Given the description of an element on the screen output the (x, y) to click on. 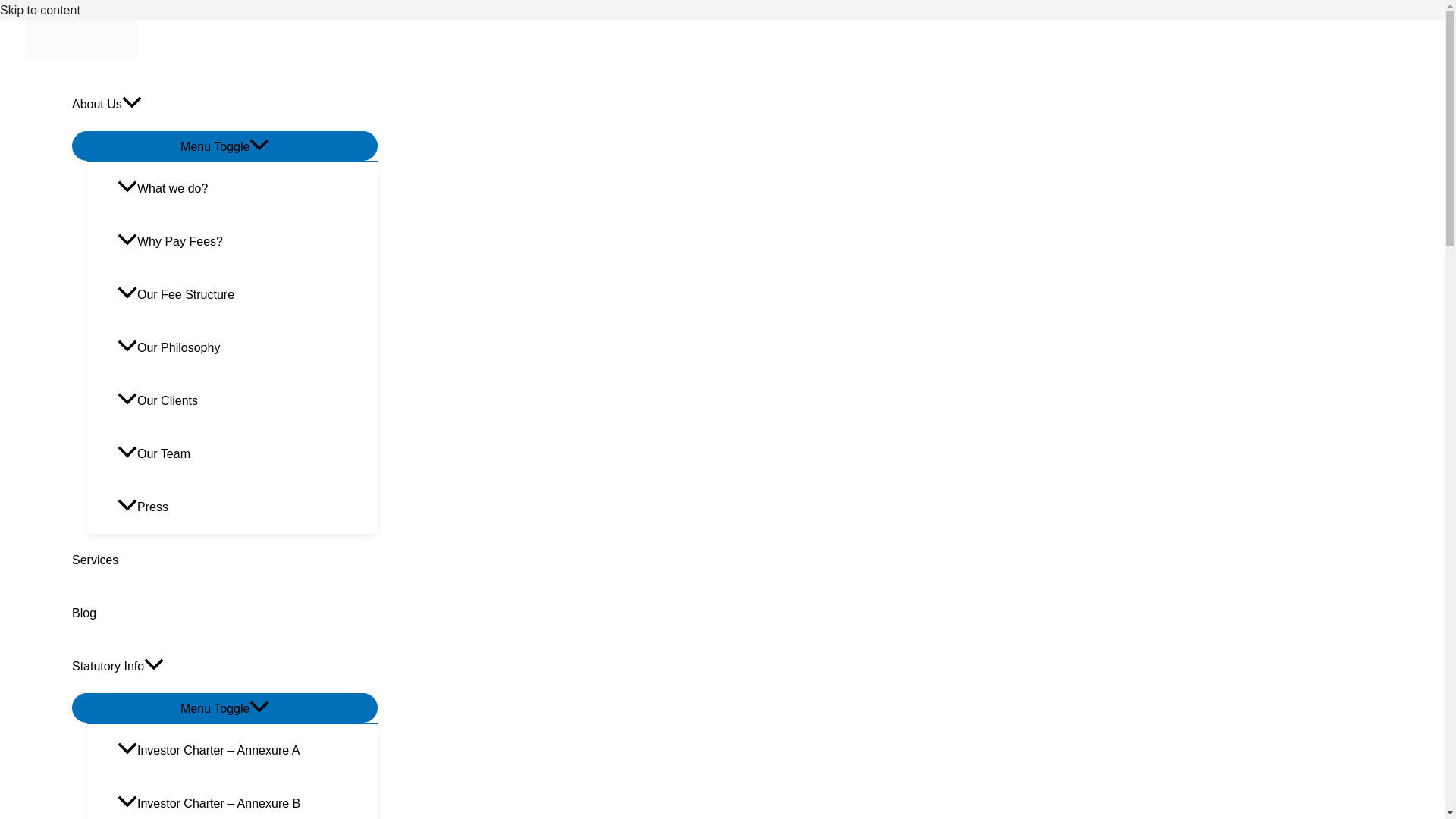
Press (247, 506)
About Us (224, 104)
Our Team (247, 453)
Skip to content (40, 10)
Our Clients (247, 400)
Menu Toggle (224, 145)
Our Fee Structure (247, 294)
Services (224, 560)
Menu Toggle (224, 707)
Skip to content (40, 10)
